Given the description of an element on the screen output the (x, y) to click on. 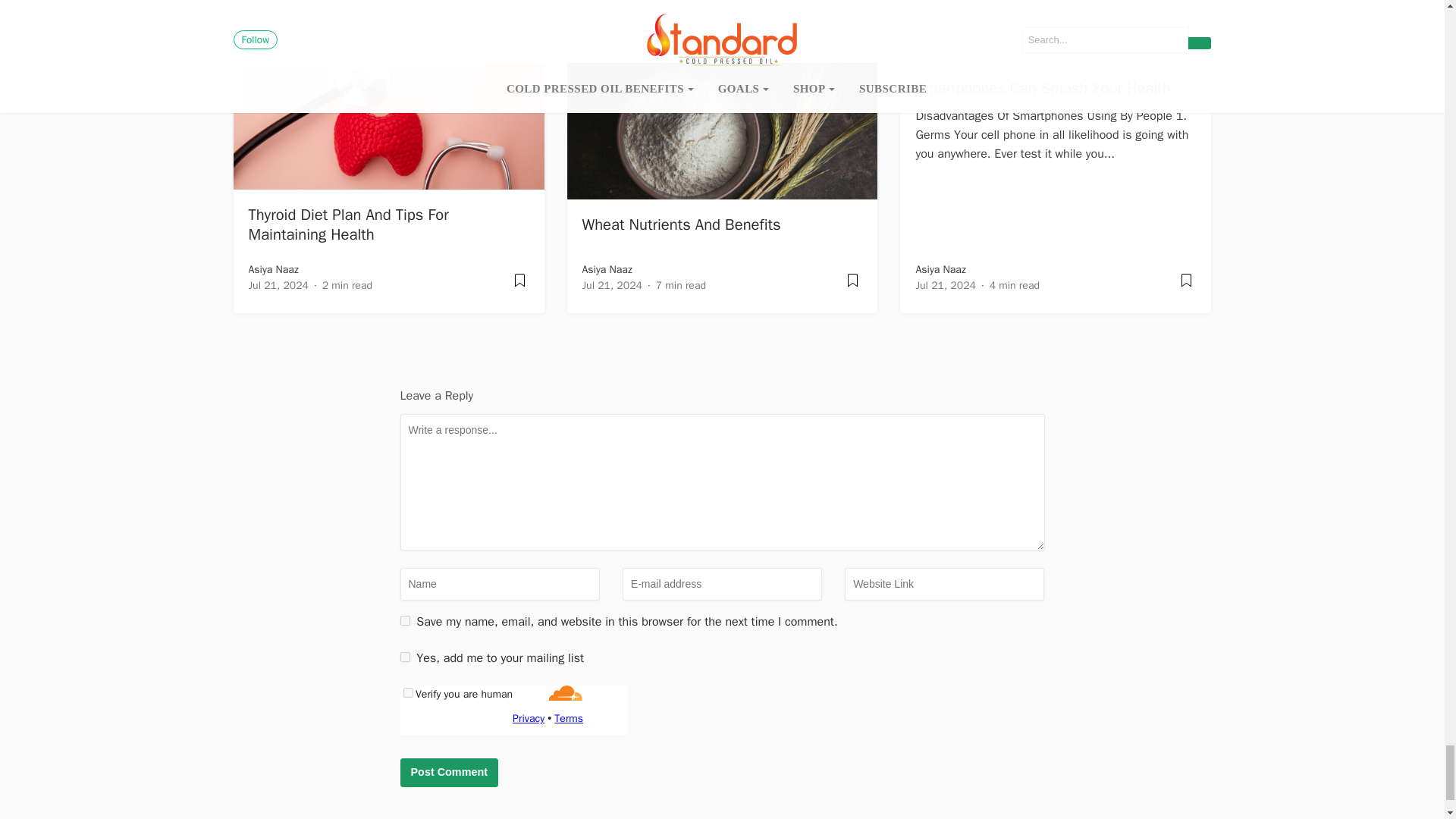
yes (405, 620)
1 (405, 656)
Post Comment (449, 772)
